Given the description of an element on the screen output the (x, y) to click on. 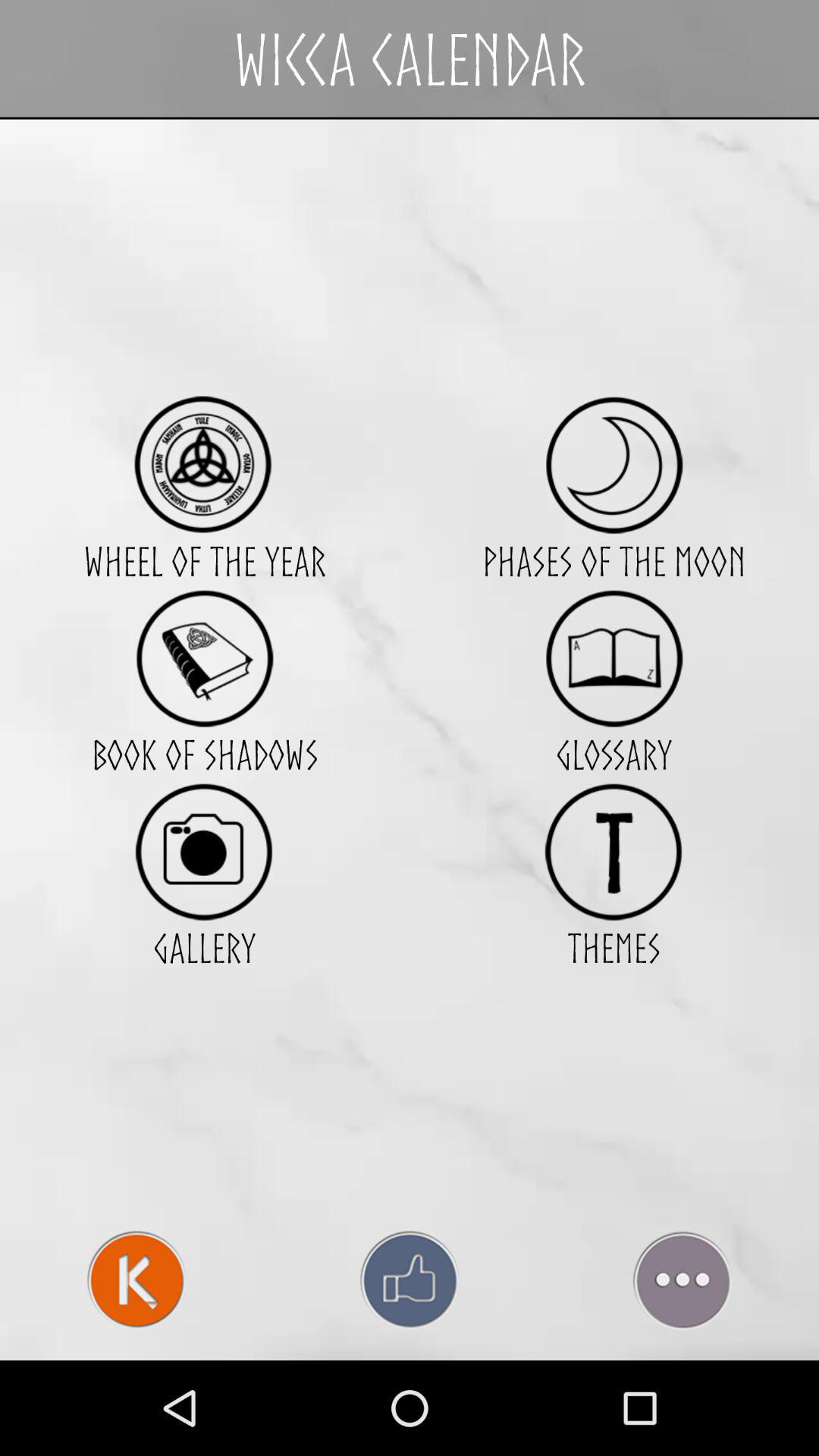
turn off icon next to the wheel of the item (613, 658)
